Given the description of an element on the screen output the (x, y) to click on. 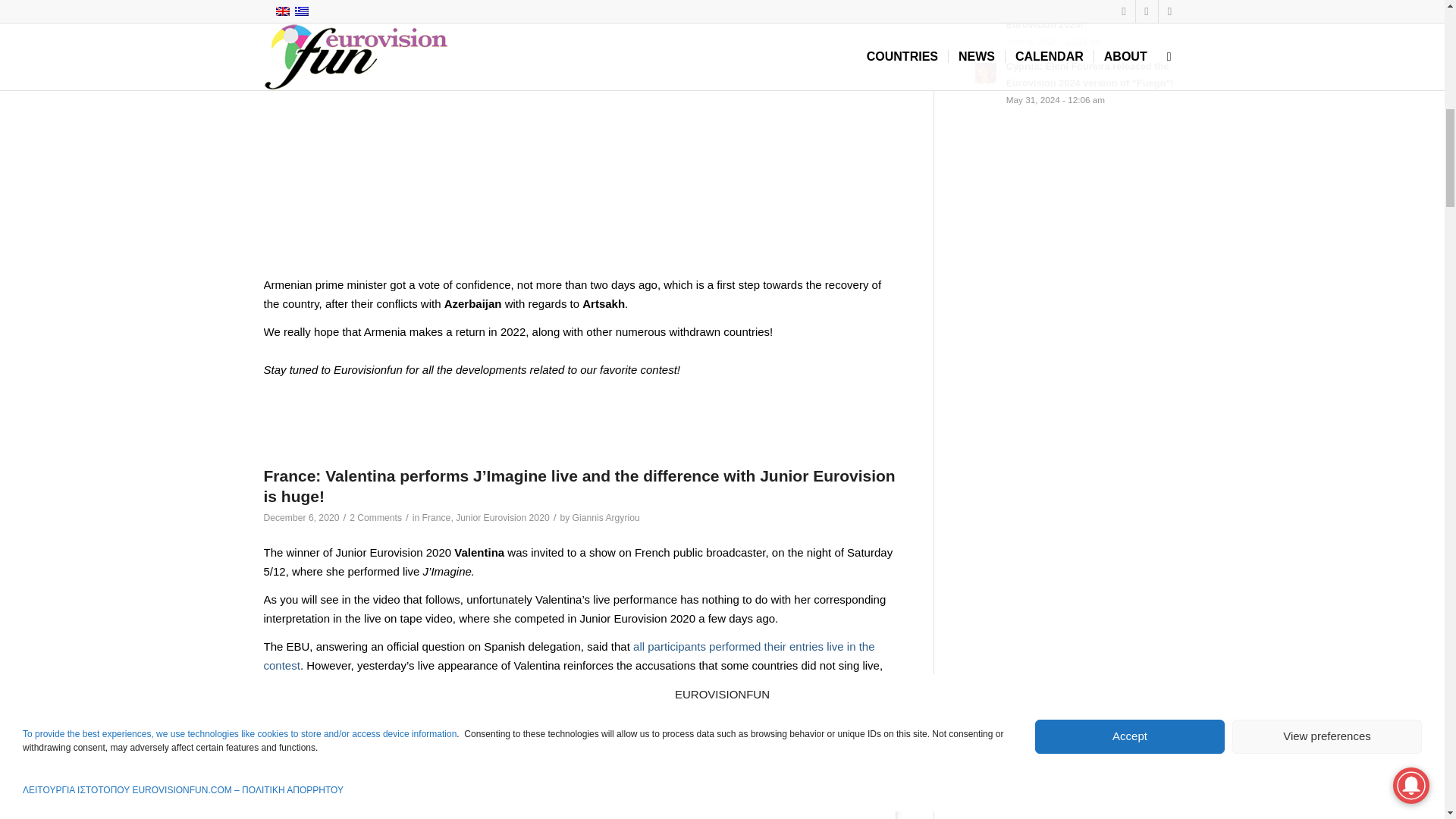
Posts by Giannis Argyriou (606, 517)
